Given the description of an element on the screen output the (x, y) to click on. 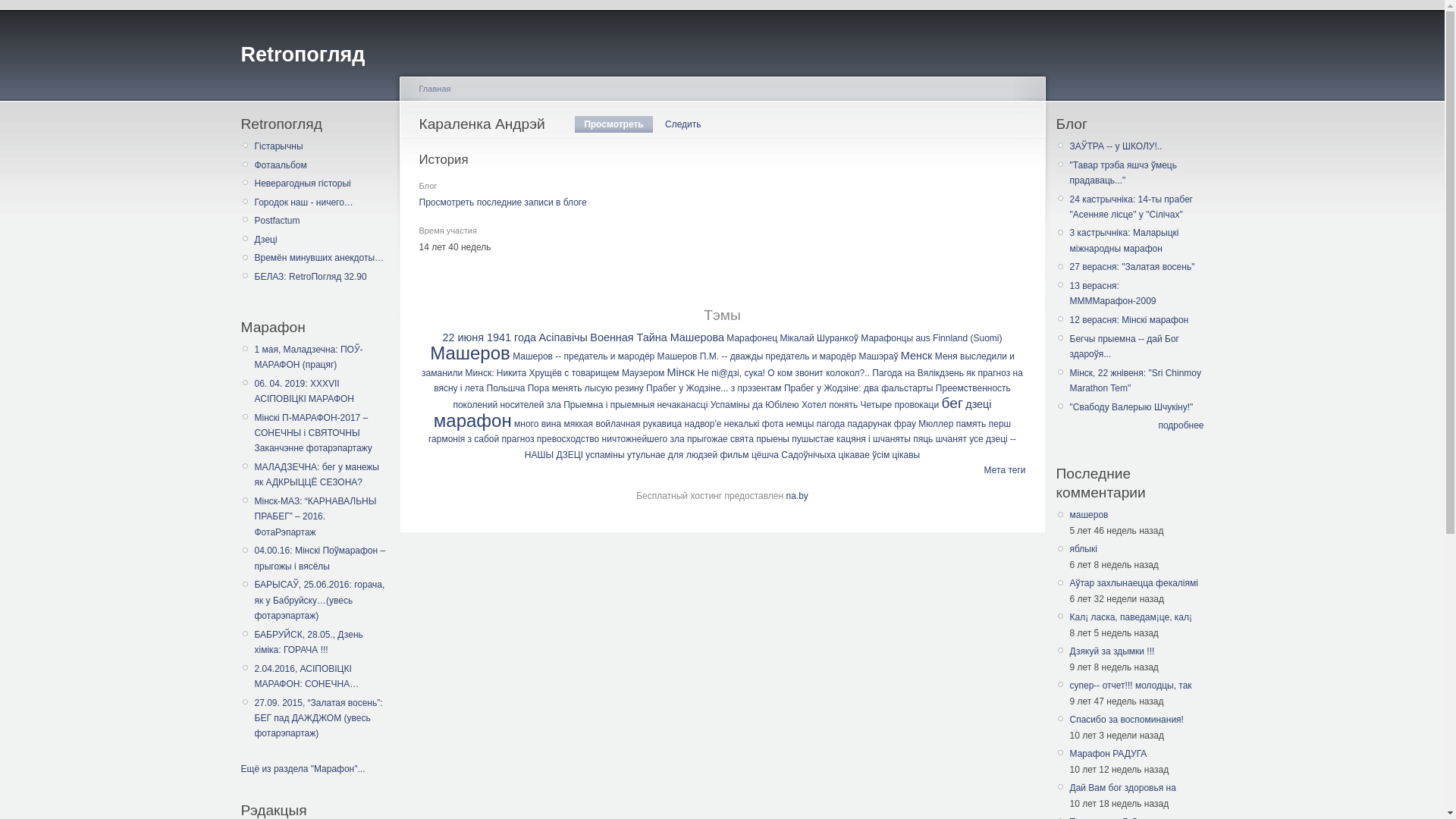
na.by Element type: text (796, 495)
Postfactum Element type: text (321, 220)
